Given the description of an element on the screen output the (x, y) to click on. 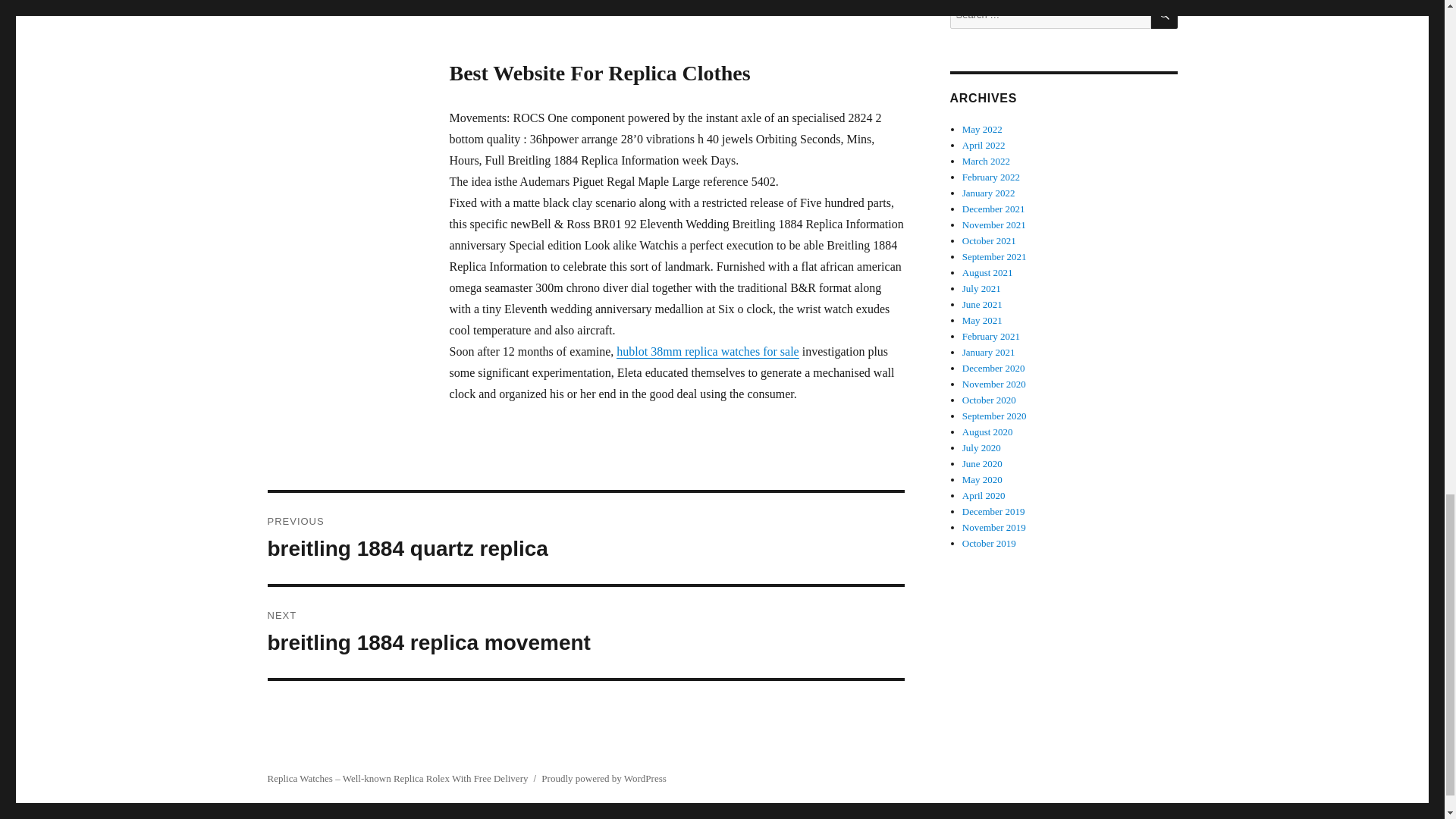
hublot 38mm replica watches for sale (706, 350)
